Given the description of an element on the screen output the (x, y) to click on. 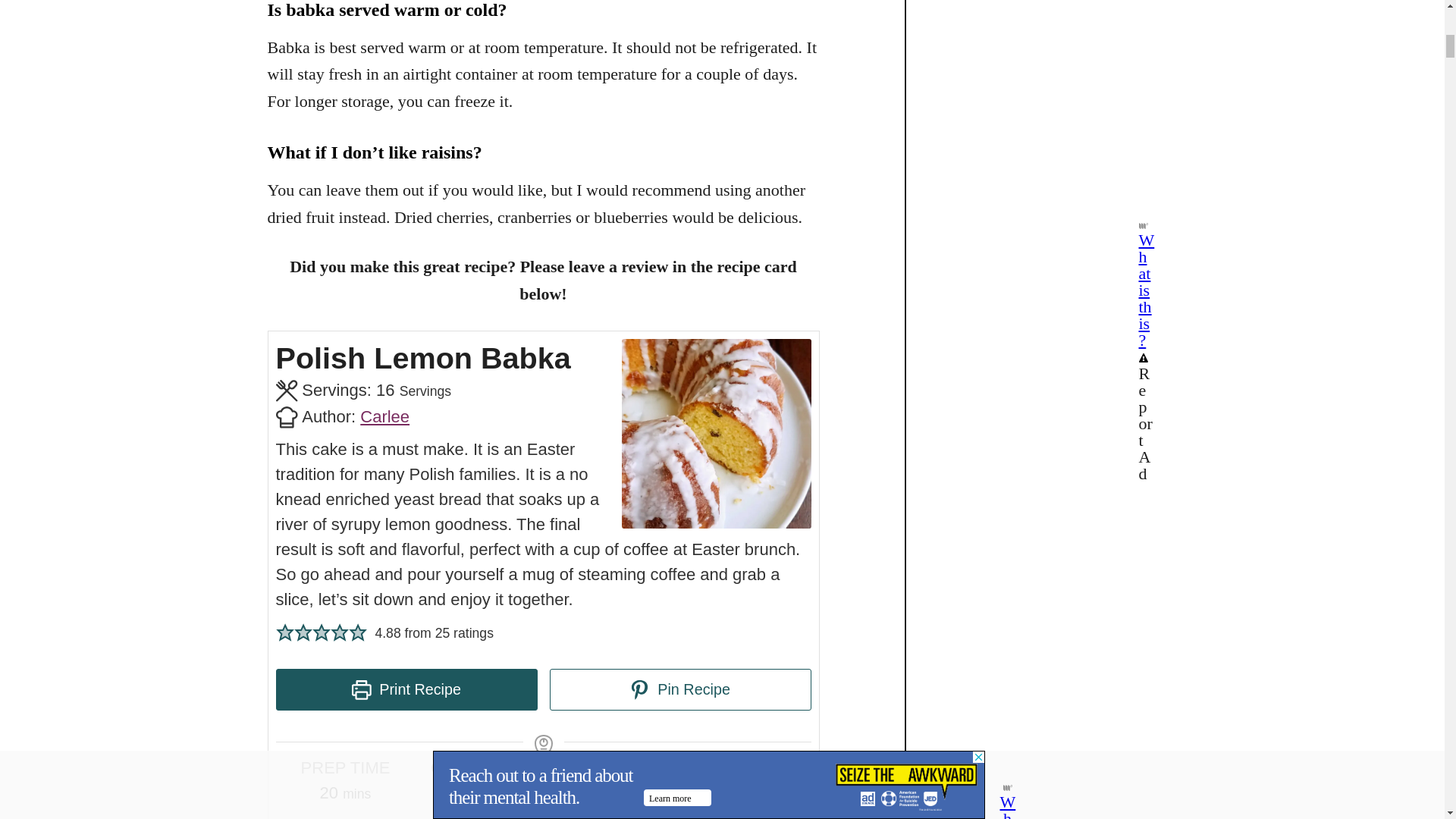
Carlee (384, 416)
Polish Lemon Babka 2 (715, 433)
Print Recipe (406, 689)
Pin Recipe (679, 689)
